Given the description of an element on the screen output the (x, y) to click on. 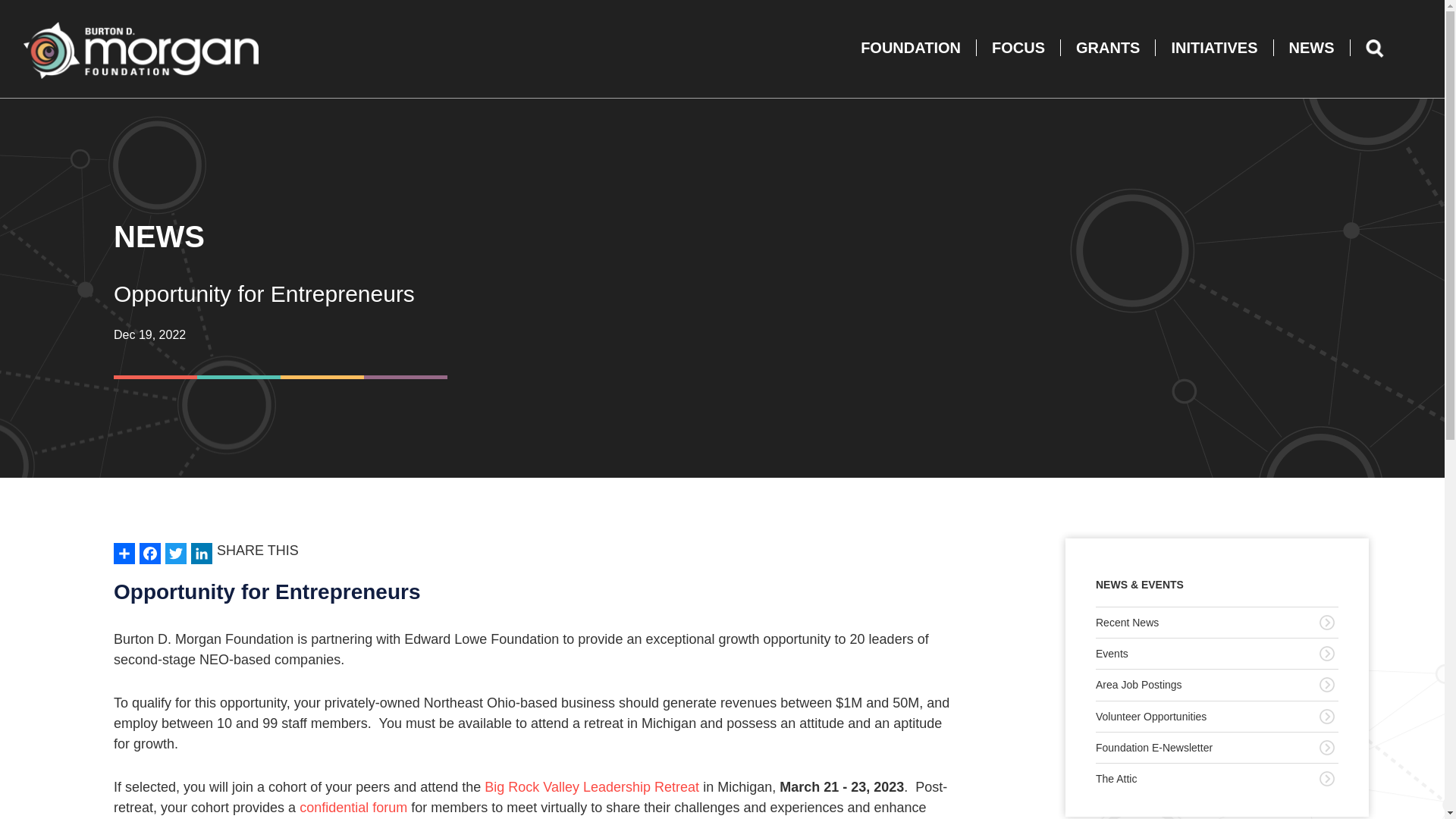
Monday, December 19, 2022 - 19:00 (149, 334)
Skip to main content (108, 50)
